Given the description of an element on the screen output the (x, y) to click on. 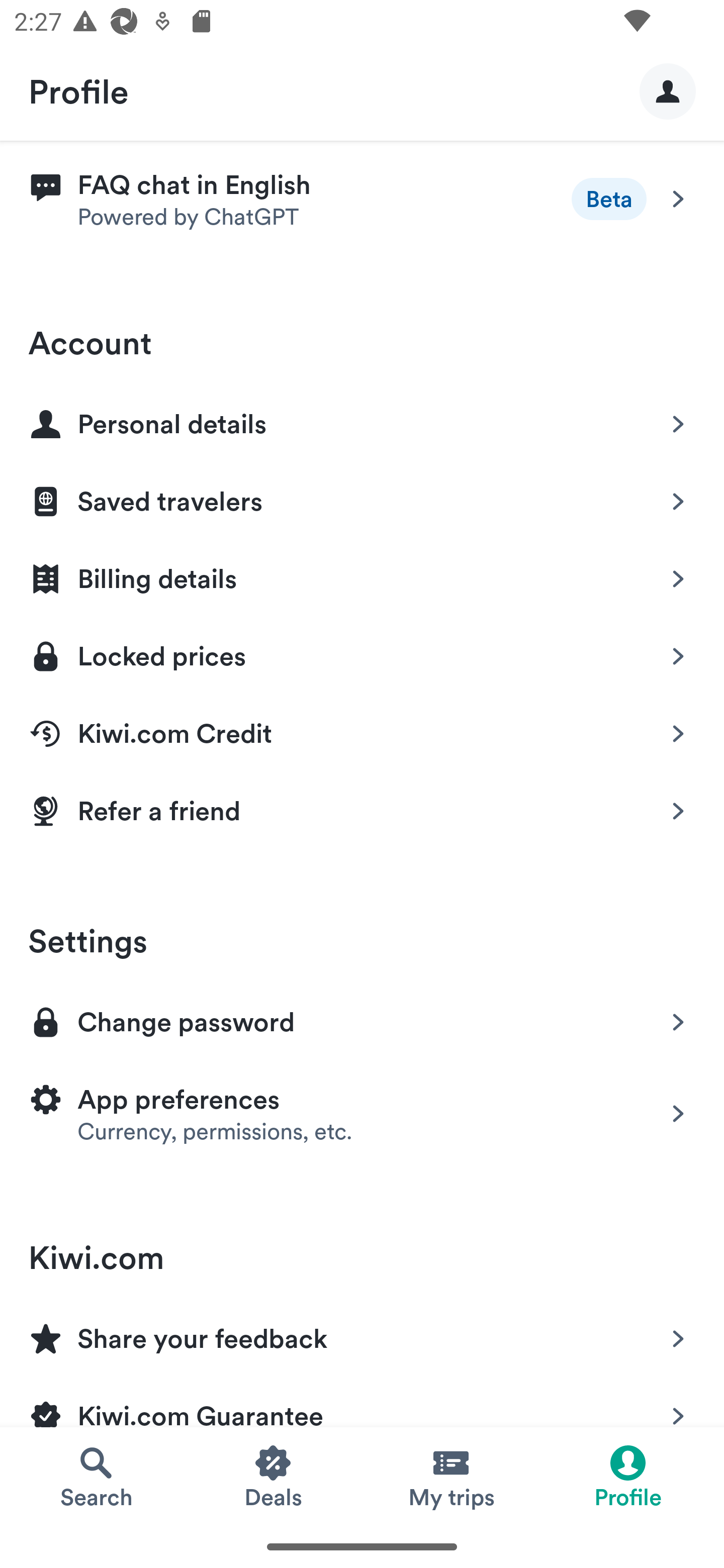
profile picture (667, 90)
Beta FAQ chat in English Powered by ChatGPT (362, 198)
Personal details (362, 420)
Saved travelers (362, 497)
Billing details (362, 575)
Locked prices (362, 652)
Kiwi.com Credit (362, 729)
Refer a friend (362, 810)
Change password (362, 1020)
App preferences Currency, permissions, etc. (362, 1113)
Share your feedback (362, 1334)
Kiwi.com Guarantee (362, 1399)
Search (95, 1475)
Deals (273, 1475)
My trips (450, 1475)
